Given the description of an element on the screen output the (x, y) to click on. 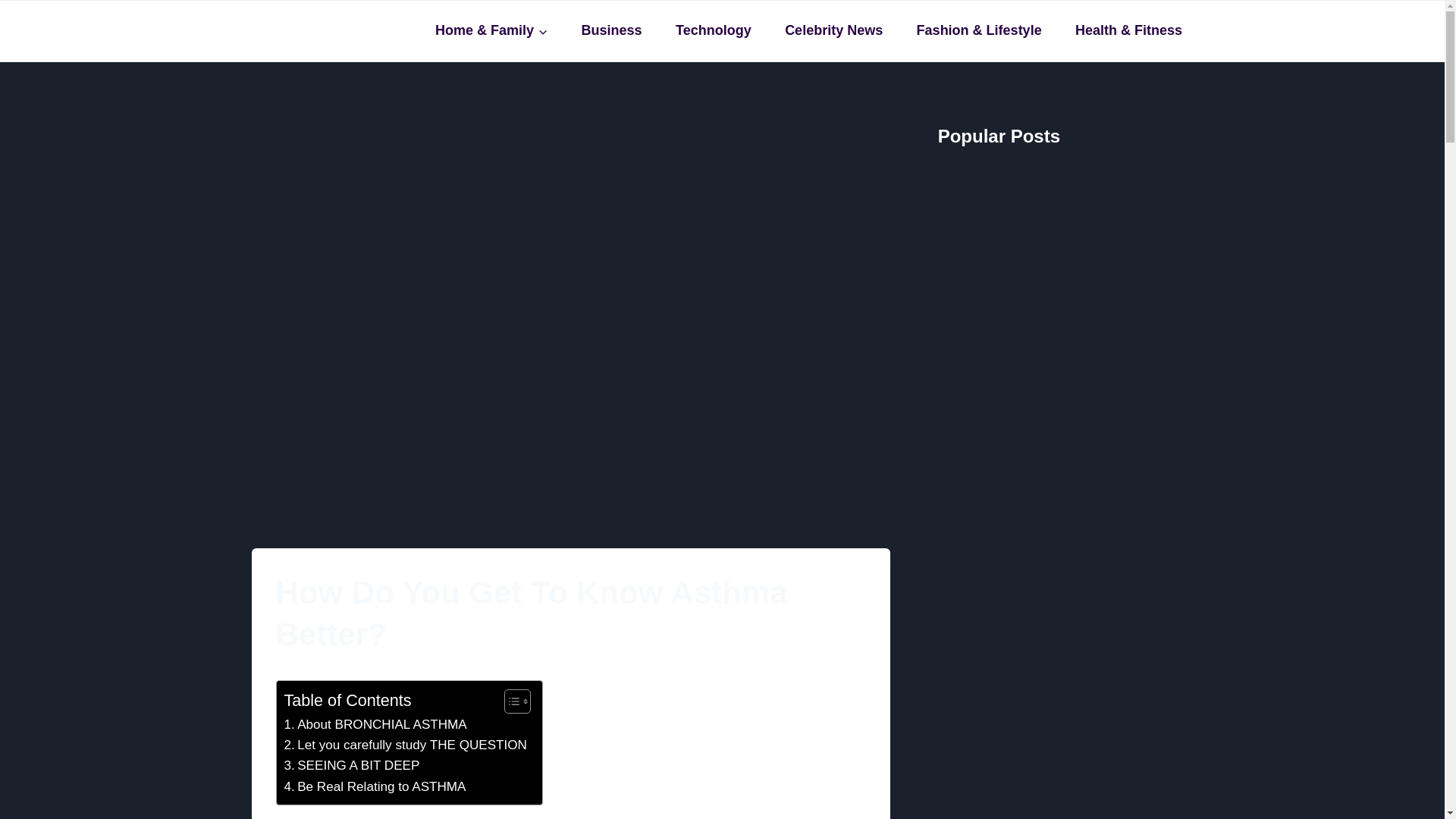
Celebrity News (833, 30)
About BRONCHIAL ASTHMA (374, 724)
Be Real Relating to ASTHMA (374, 786)
Be Real Relating to ASTHMA (374, 786)
SEEING A BIT DEEP (351, 765)
SEEING A BIT DEEP (351, 765)
Technology (713, 30)
Business (611, 30)
About BRONCHIAL ASTHMA (374, 724)
